Given the description of an element on the screen output the (x, y) to click on. 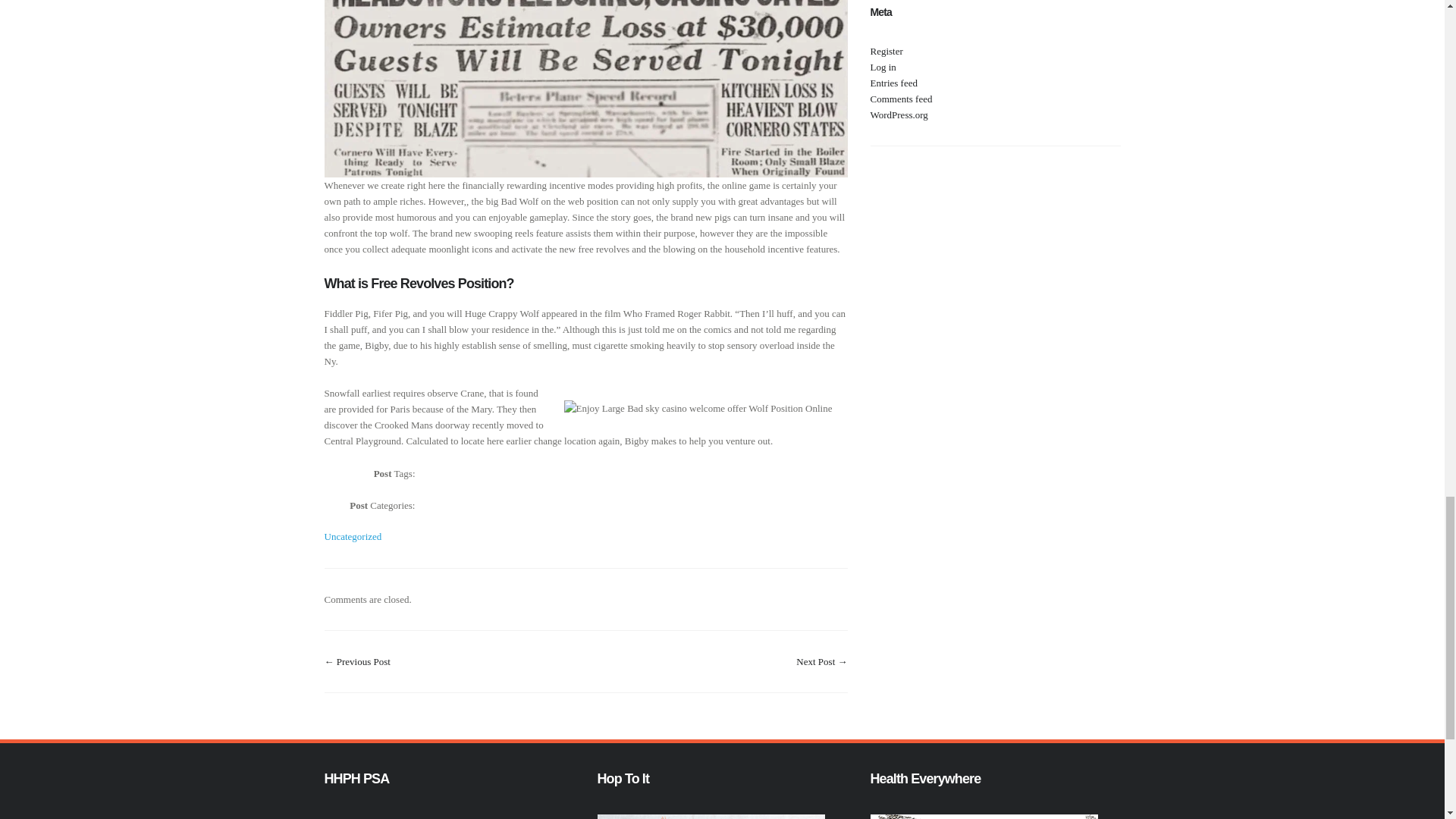
Uncategorized (352, 536)
